Given the description of an element on the screen output the (x, y) to click on. 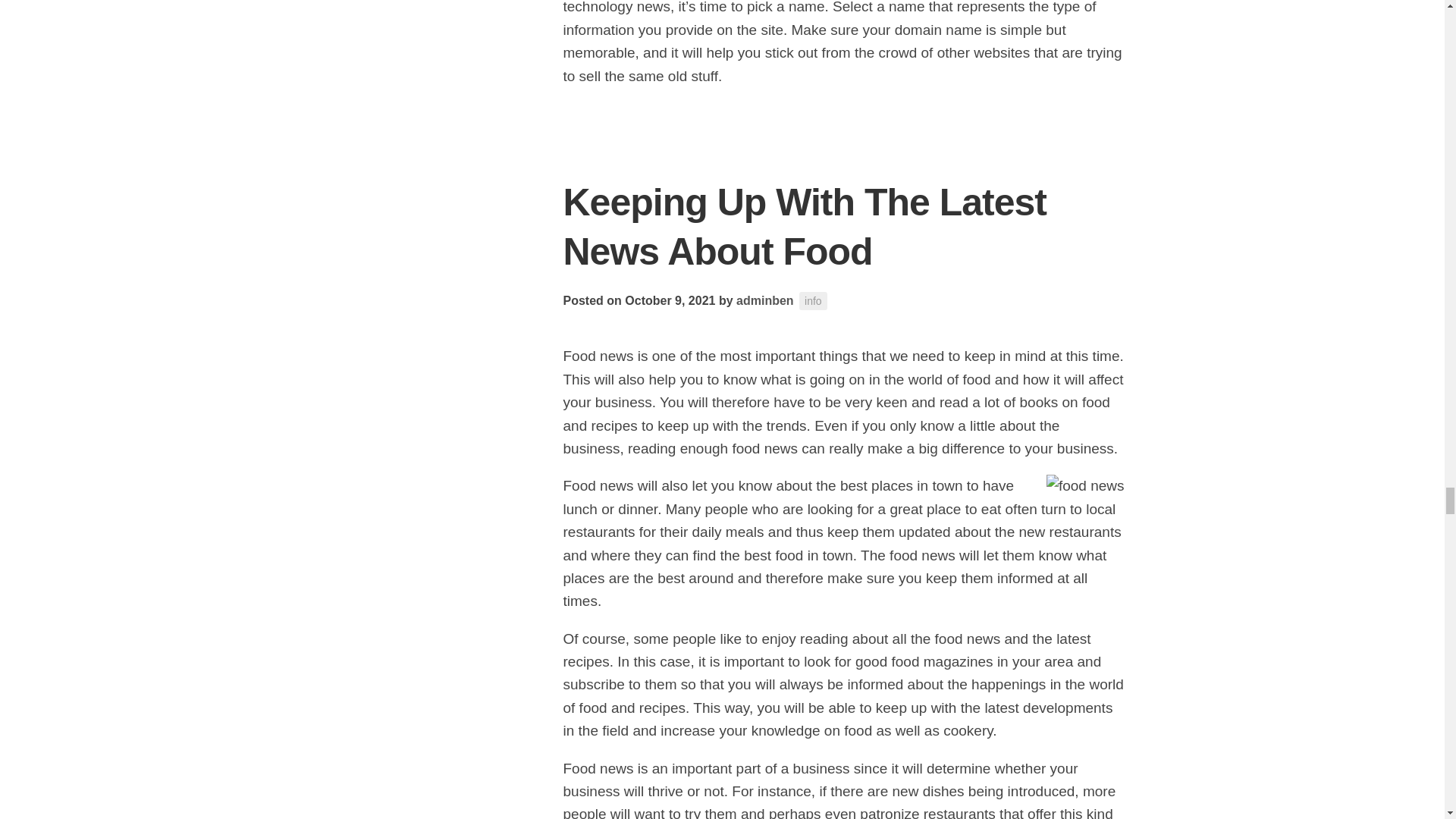
Posts by adminben (764, 300)
